Given the description of an element on the screen output the (x, y) to click on. 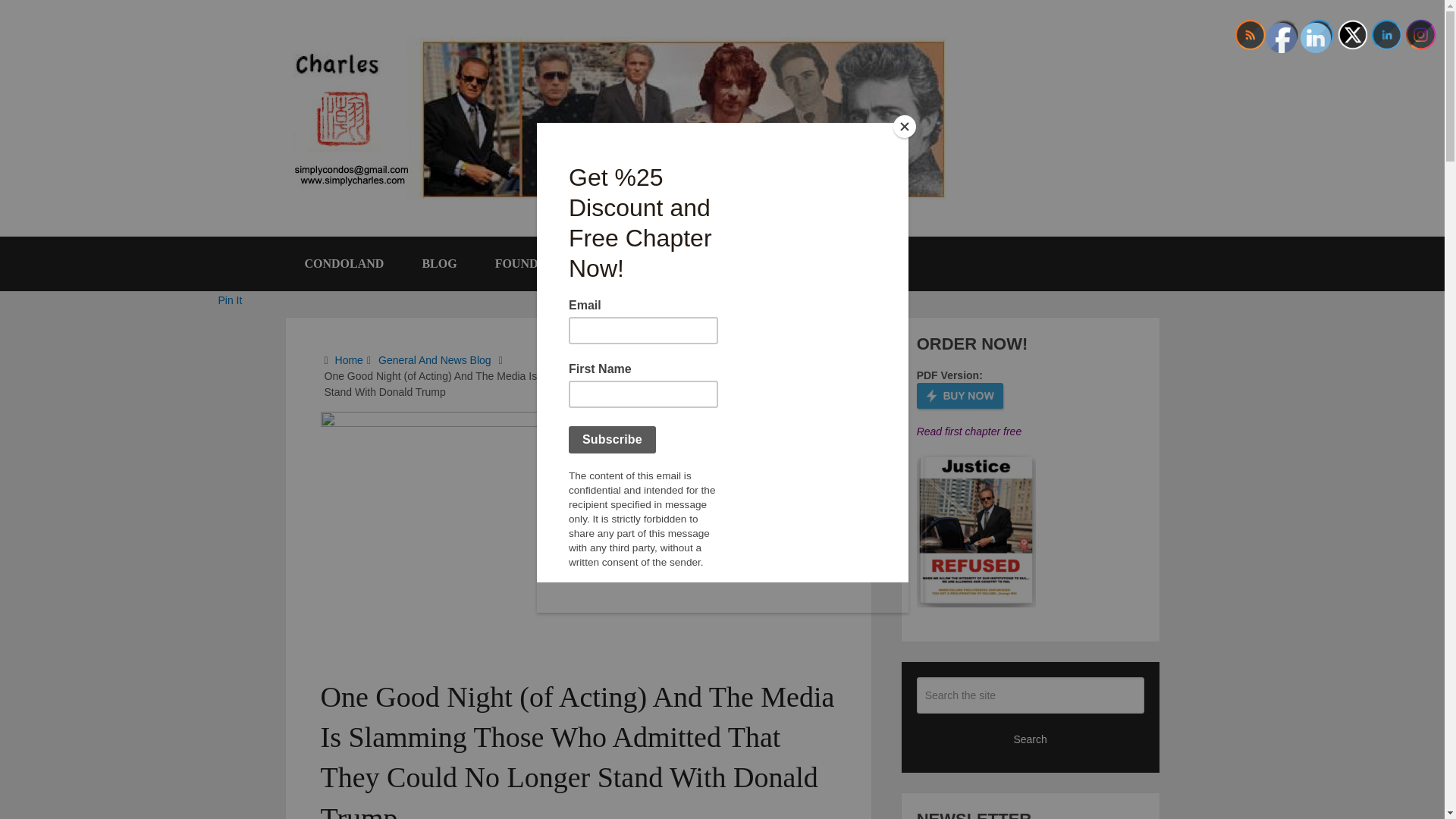
Pin It (230, 300)
Read first chapter free (969, 431)
CONDOLAND (344, 263)
Home (348, 359)
BLOG (439, 263)
General And News Blog (435, 359)
Search (1030, 739)
Tweet (232, 262)
ABOUT THIS SITE (697, 263)
